Given the description of an element on the screen output the (x, y) to click on. 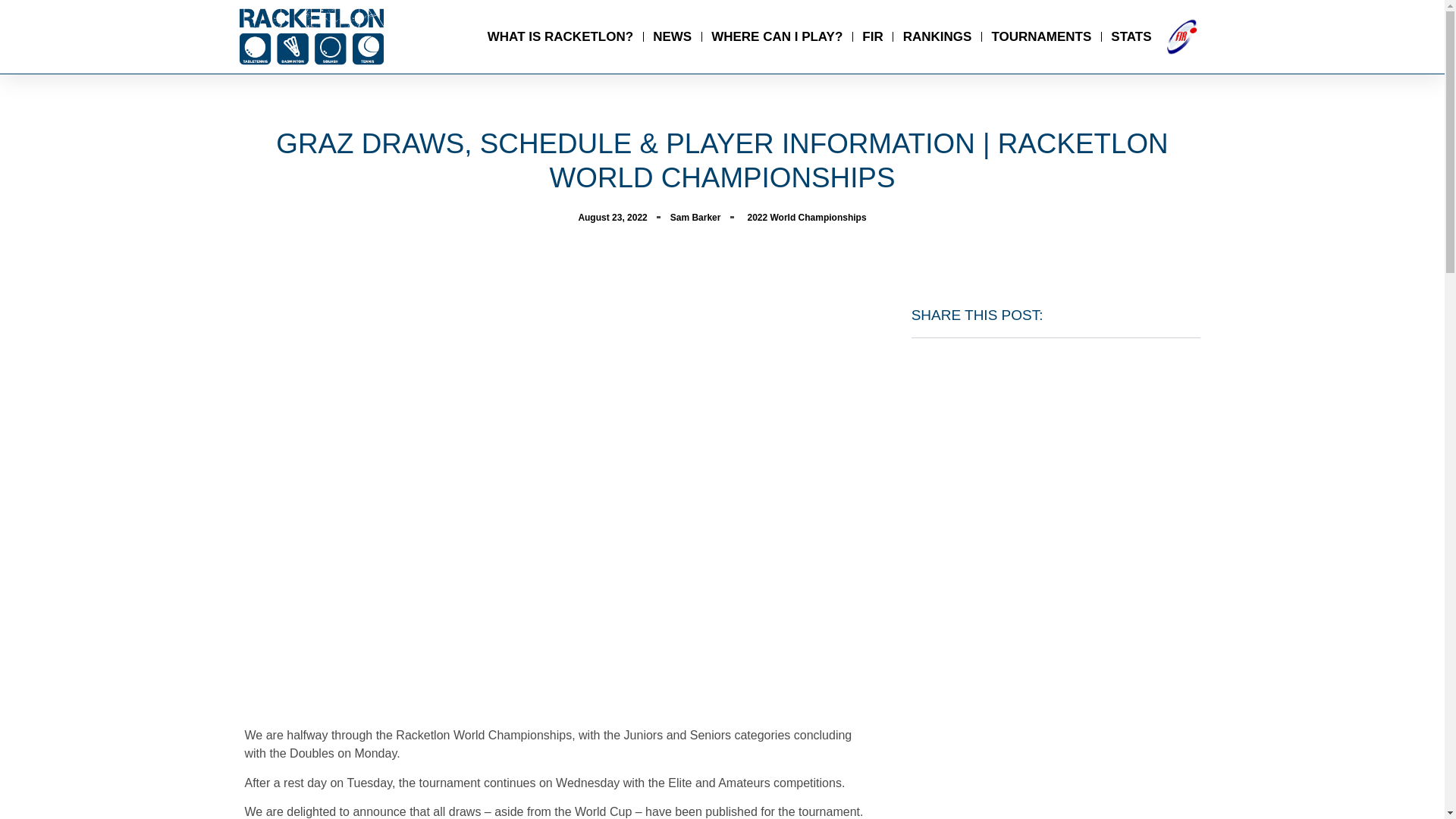
NEWS (671, 36)
STATS (1130, 36)
WHERE CAN I PLAY? (777, 36)
WHAT IS RACKETLON? (560, 36)
TOURNAMENTS (1040, 36)
RANKINGS (937, 36)
FIR (871, 36)
August 23, 2022 (612, 217)
